Given the description of an element on the screen output the (x, y) to click on. 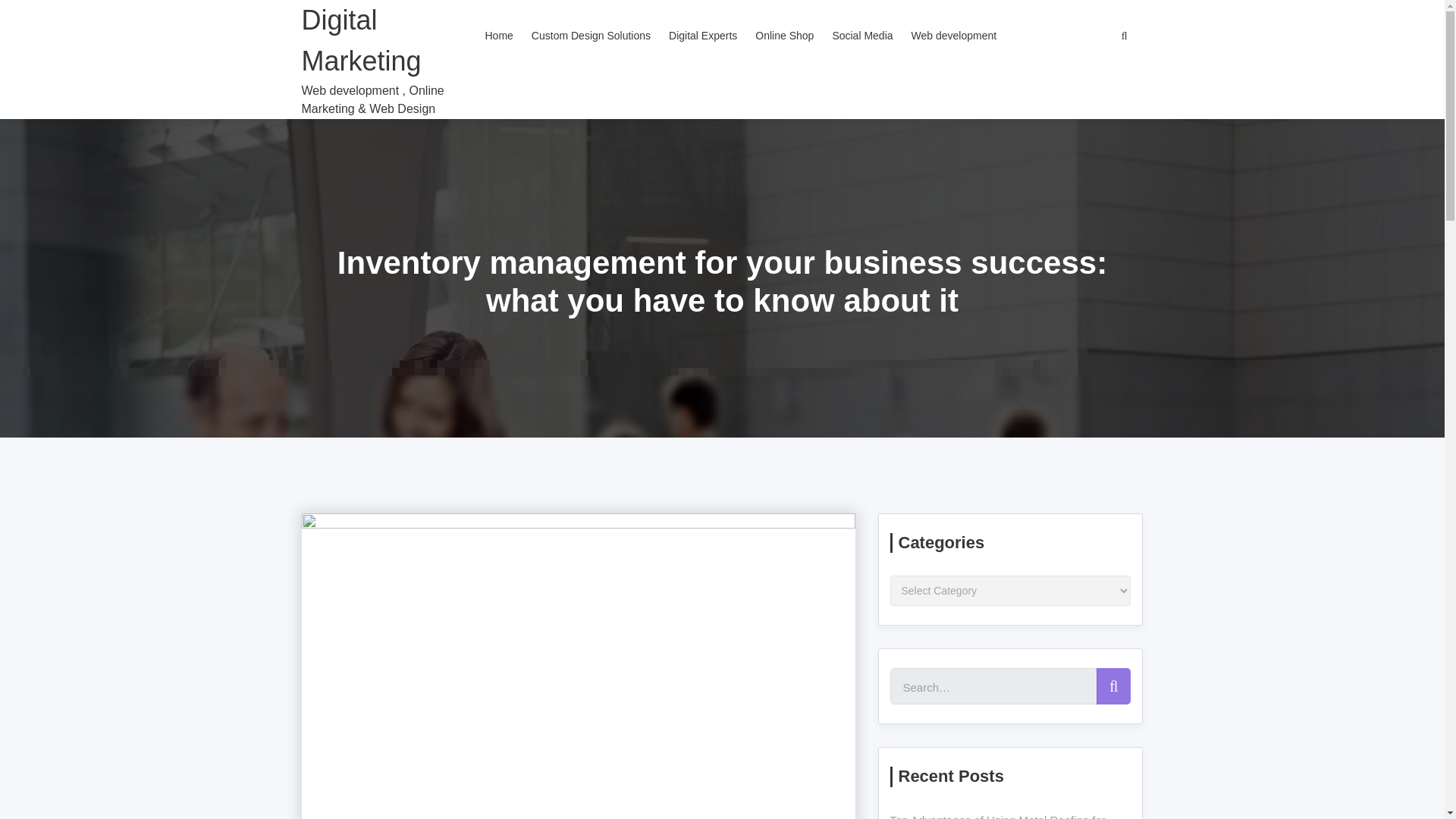
Digital Marketing (388, 40)
Social Media (861, 36)
Social Media (861, 36)
Custom Design Solutions (590, 36)
Online Shop (783, 36)
Online Shop (783, 36)
Digital Experts (702, 36)
Custom Design Solutions (590, 36)
Digital Experts (702, 36)
Web development (954, 36)
Web development (954, 36)
